Given the description of an element on the screen output the (x, y) to click on. 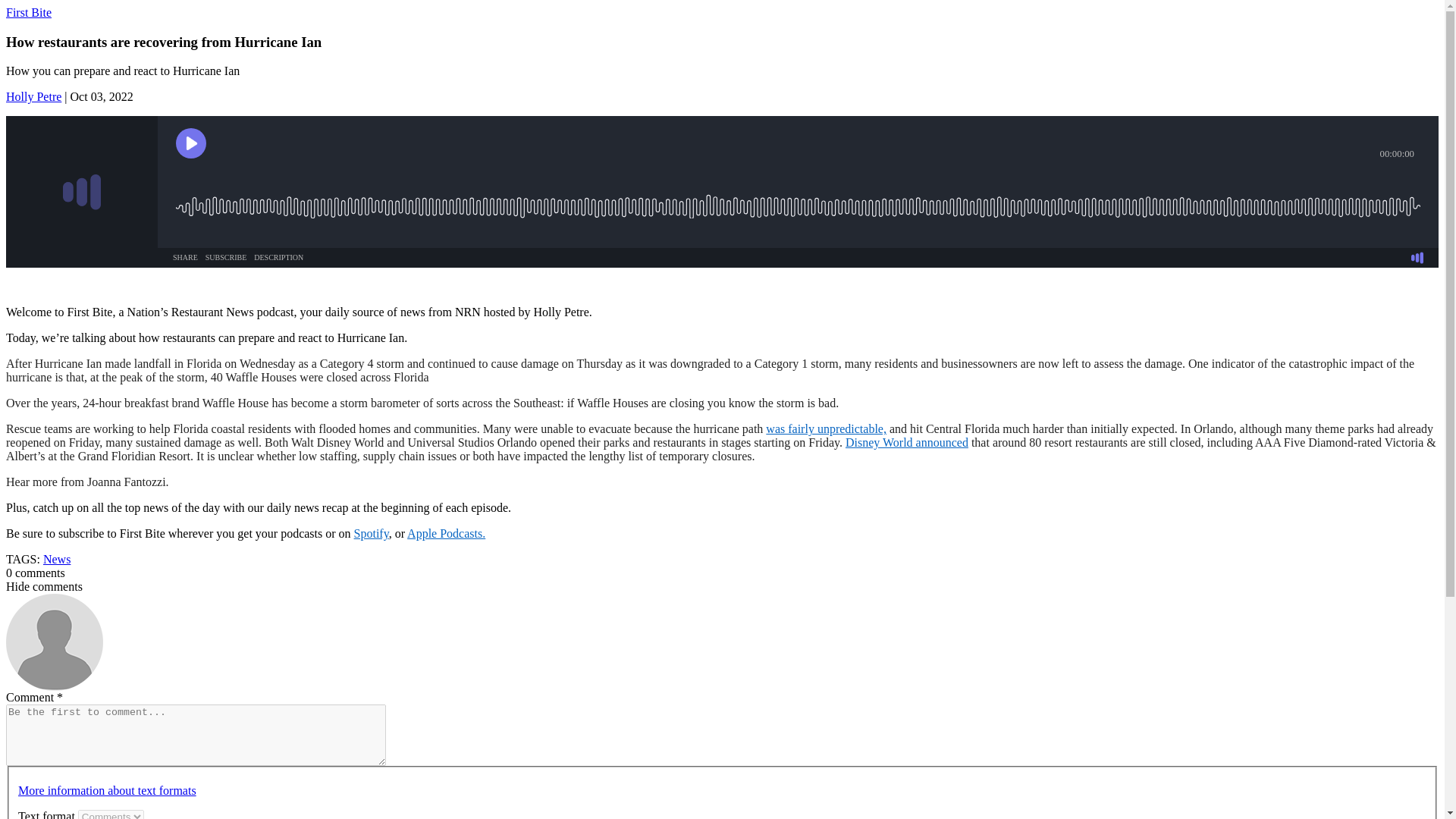
Spotify (370, 533)
More information about text formats (106, 789)
was fairly unpredictable, (825, 428)
First Bite (27, 11)
Apple Podcasts. (445, 533)
0 comments (35, 572)
Holly Petre (33, 96)
News (56, 558)
Disney World announced (906, 441)
